Given the description of an element on the screen output the (x, y) to click on. 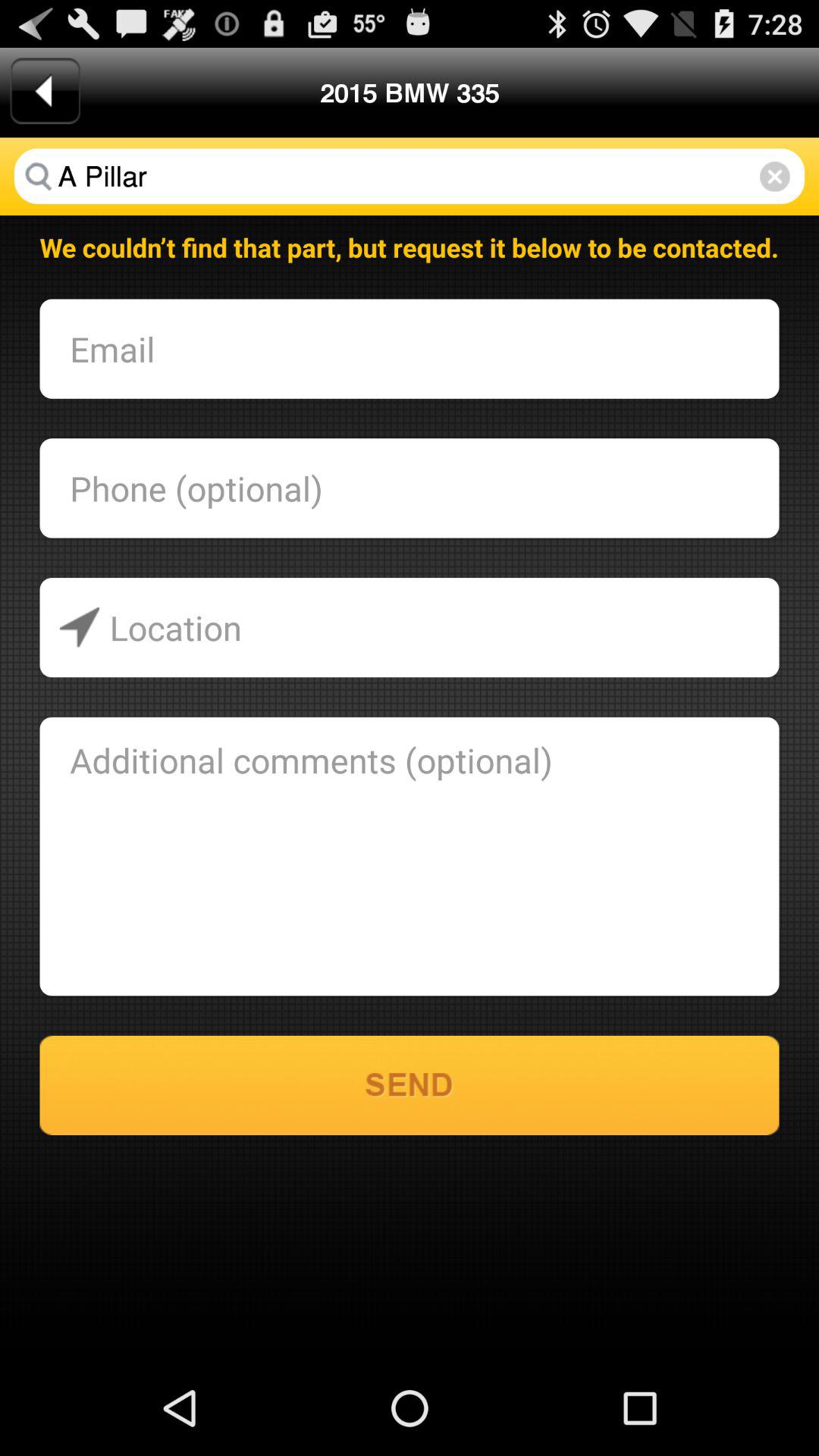
tap a pillar item (409, 176)
